Given the description of an element on the screen output the (x, y) to click on. 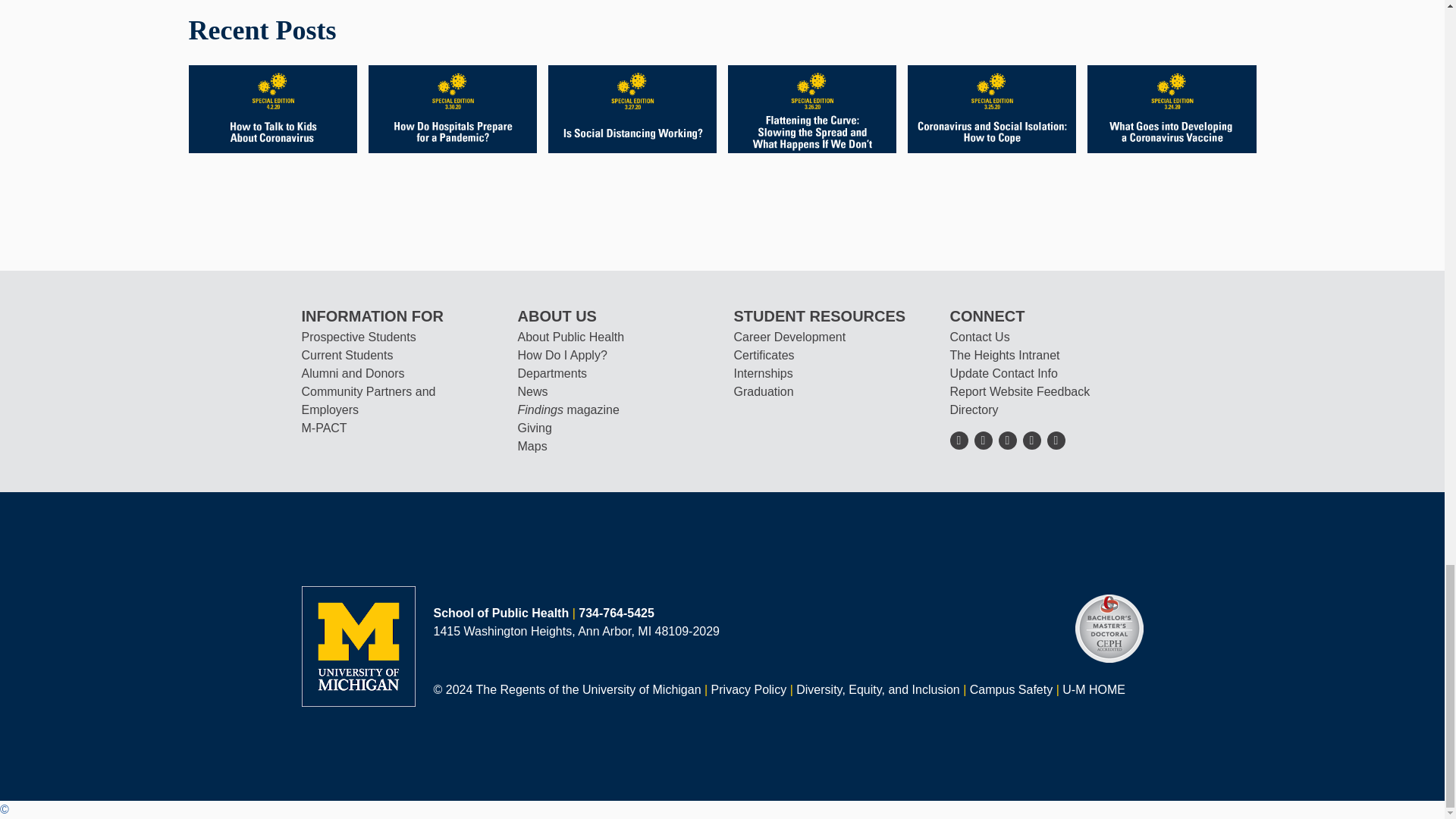
What Goes into Developing a Coronavirus Vaccine (1171, 107)
How Do Hospitals Prepare for a Pandemic? (452, 107)
 Is Social Distancing Working? (632, 107)
How to Talk to Kids about Coronavirus (271, 107)
Coronavirus and Social Isolation: How to Cope (991, 107)
